Given the description of an element on the screen output the (x, y) to click on. 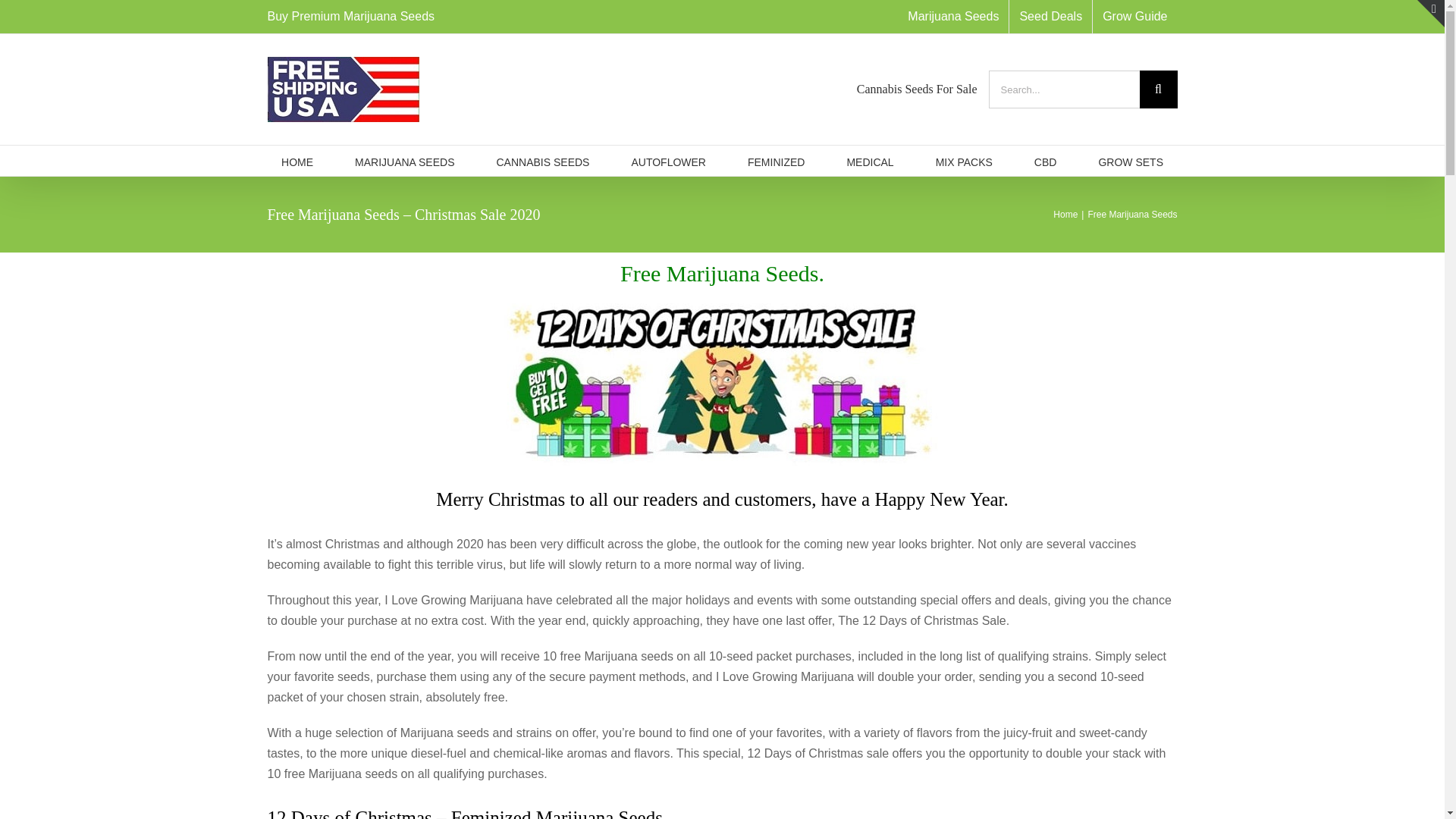
AUTOFLOWER (668, 160)
Marijuana Seeds (953, 16)
Free Marijuana Seeds Christmas Sale (722, 384)
Grow Guide (1134, 16)
Marijuana Seeds (953, 16)
Mixed Seeds (964, 160)
Free Marijuana Seeds (1131, 214)
Best Marijuana Seeds (404, 160)
Marijuana Seeds (297, 160)
Free Cannabis Seeds (1050, 16)
MEDICAL (869, 160)
Medical Marijuana Seeds (869, 160)
Seed Deals (1050, 16)
CANNABIS SEEDS (542, 160)
Home (1064, 214)
